Given the description of an element on the screen output the (x, y) to click on. 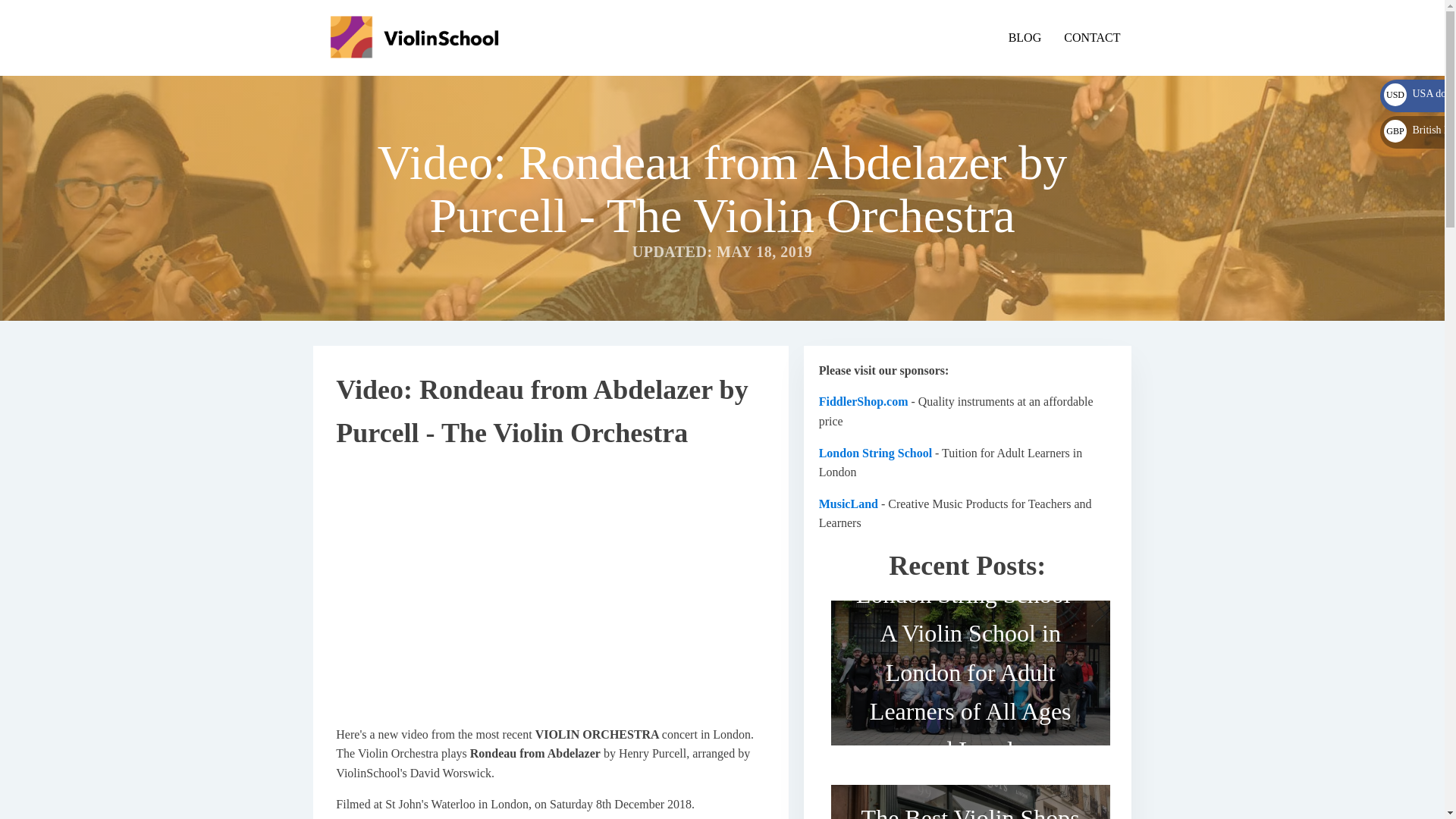
The Best Violin Shops in London, England in 2024 (970, 796)
BLOG (1024, 37)
London String School (874, 452)
MusicLand (847, 503)
CONTACT (1091, 37)
FiddlerShop.com (863, 400)
